Given the description of an element on the screen output the (x, y) to click on. 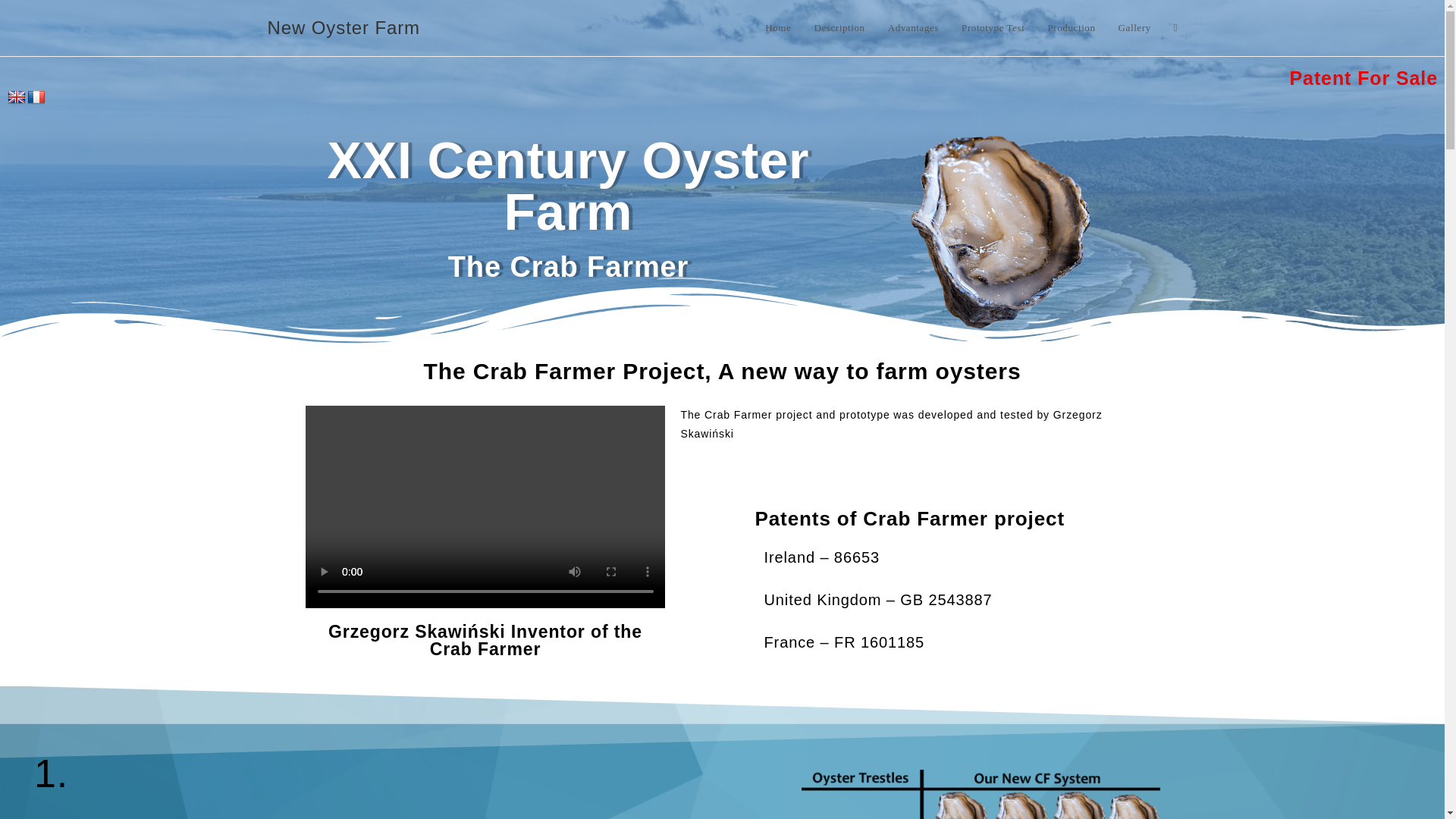
Advantages (913, 28)
Production (1070, 28)
Gallery (1133, 28)
English (16, 97)
Prototype Test (992, 28)
New Oyster Farm (343, 27)
Description (839, 28)
French (36, 97)
